Given the description of an element on the screen output the (x, y) to click on. 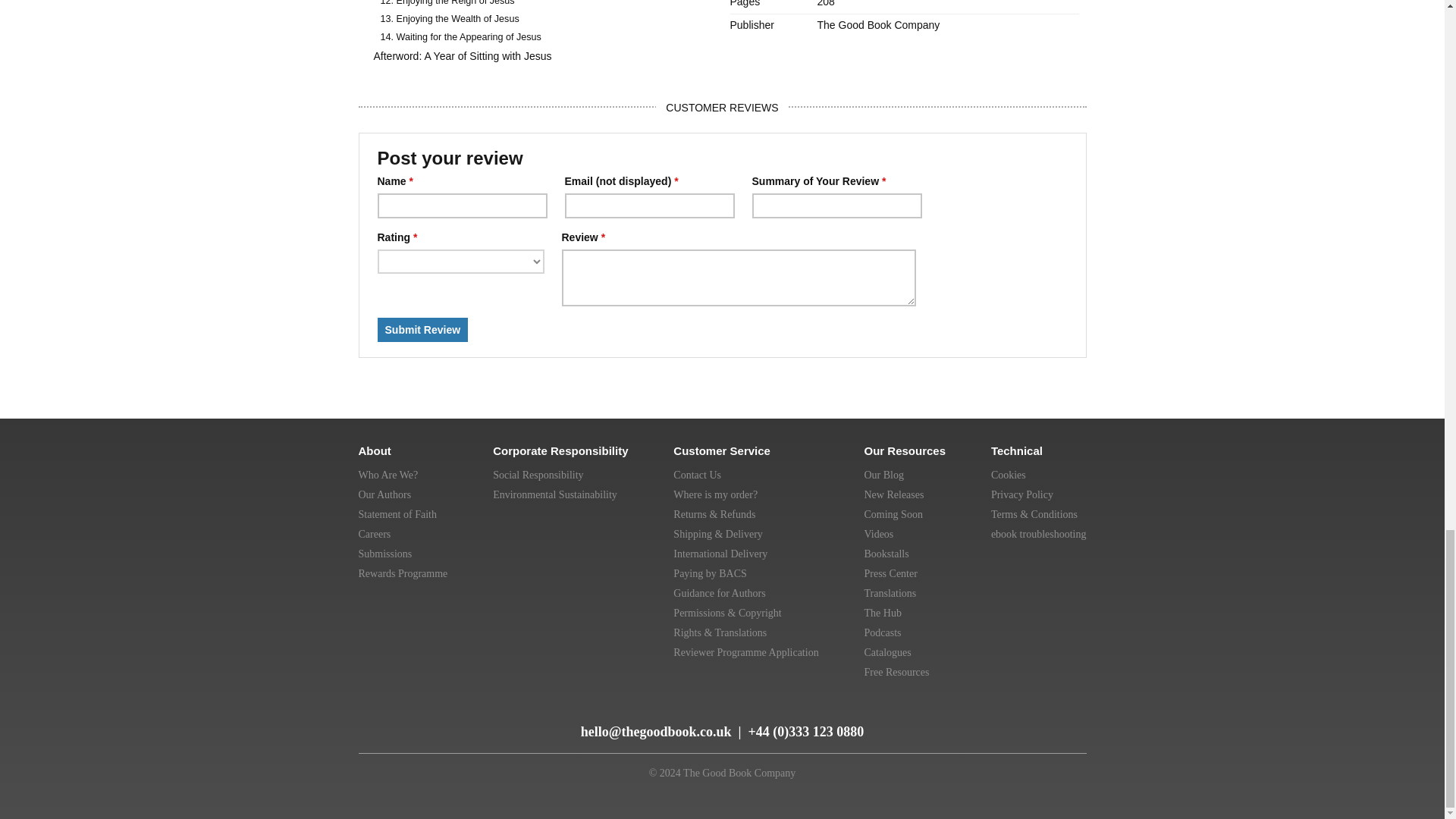
Go to US Website (972, 715)
Submit Review (422, 329)
Go to South Africa Website (1071, 715)
Go to Australia Website (1006, 715)
Subscribe to feed (371, 725)
Go to UK Website (937, 715)
Go to New Zealand Website (1039, 715)
